Given the description of an element on the screen output the (x, y) to click on. 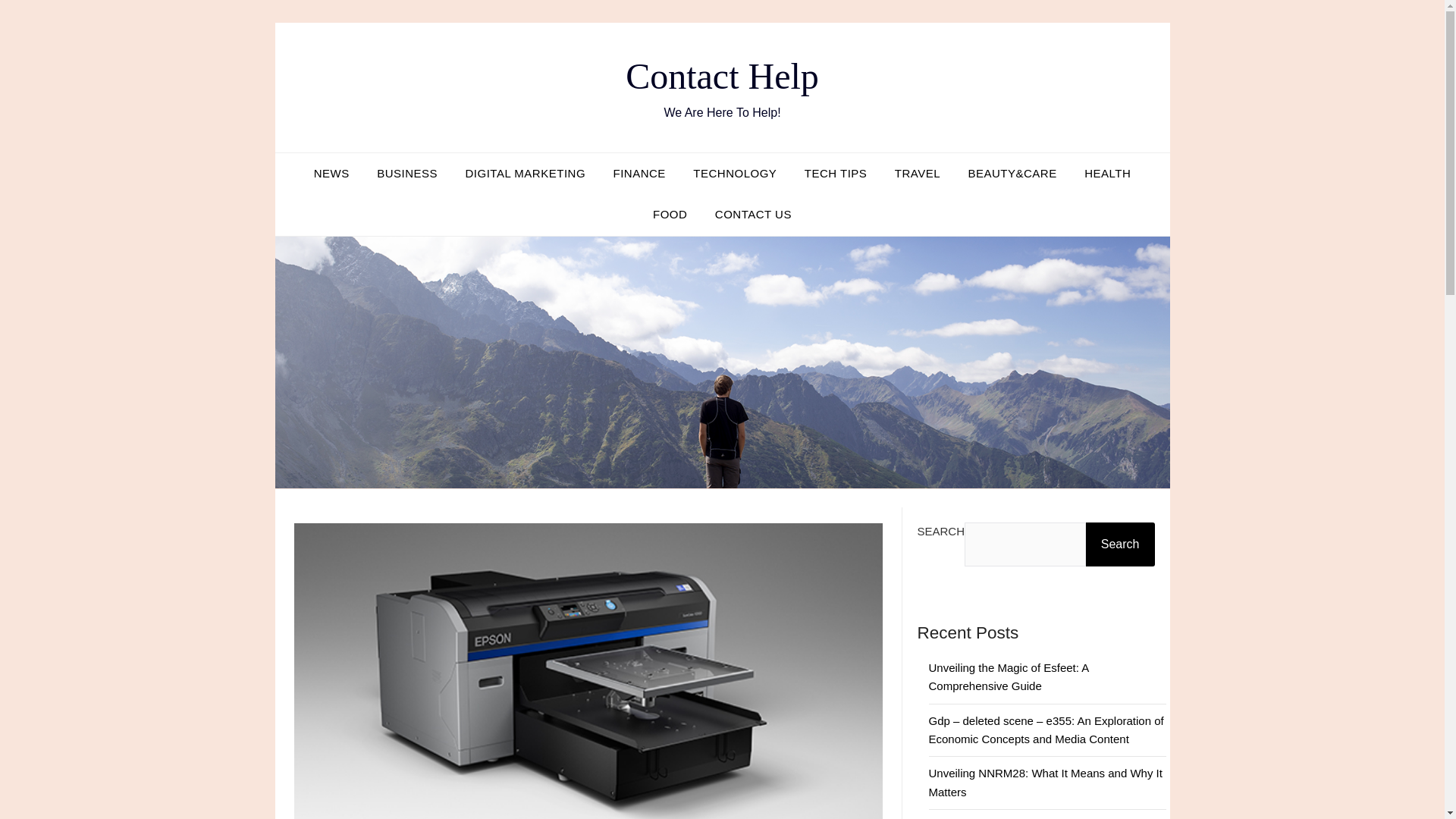
BUSINESS (407, 173)
HEALTH (1106, 173)
Unveiling NNRM28: What It Means and Why It Matters (1044, 781)
TECHNOLOGY (735, 173)
Unveiling the Magic of Esfeet: A Comprehensive Guide (1007, 676)
TRAVEL (917, 173)
FOOD (669, 214)
Search (1120, 544)
CONTACT US (753, 214)
FINANCE (638, 173)
